Given the description of an element on the screen output the (x, y) to click on. 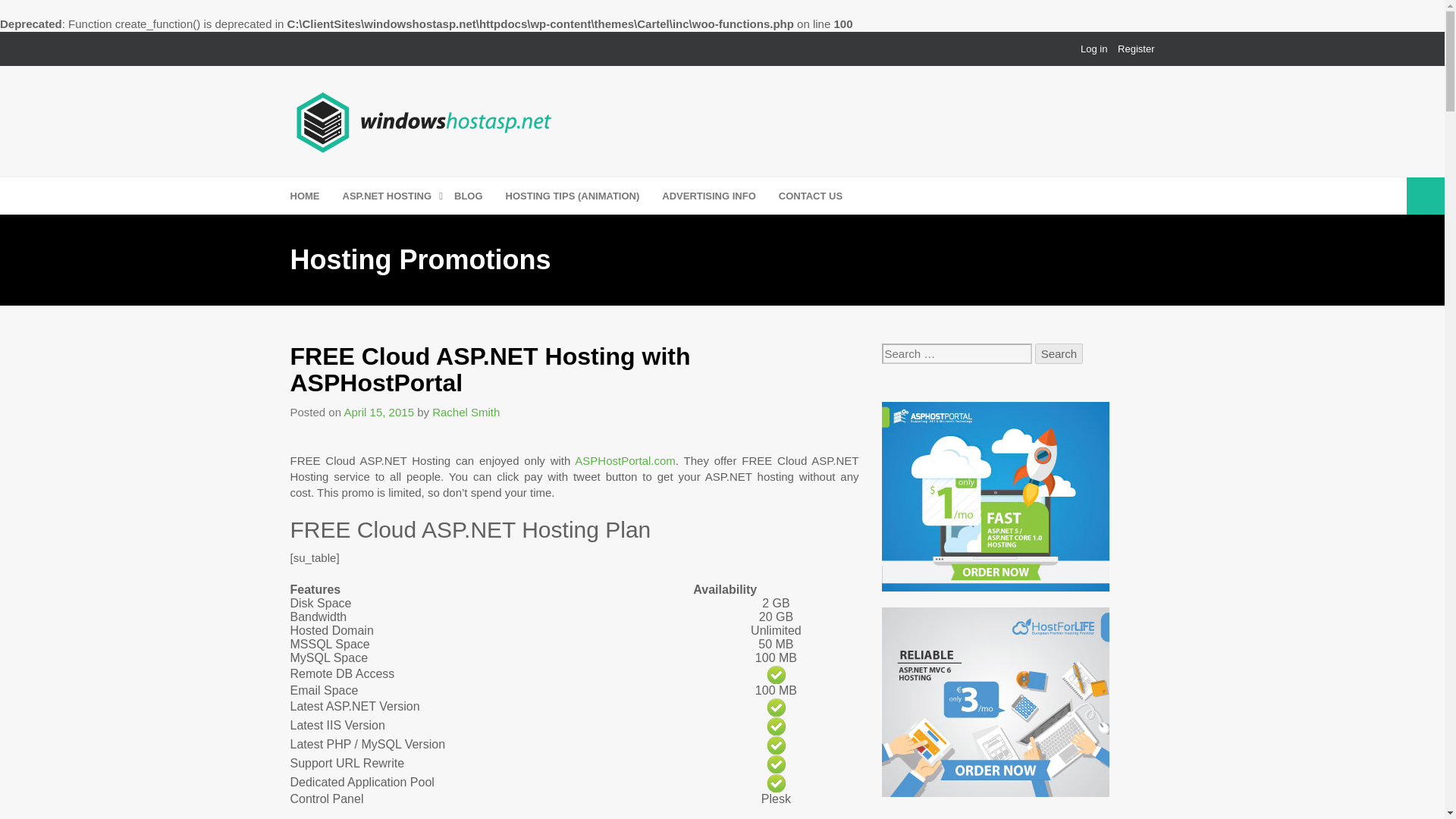
CONTACT US (810, 195)
FREE Cloud ASP.NET Hosting (776, 674)
FREE Cloud ASP.NET Hosting (776, 725)
FREE Cloud ASP.NET Hosting (776, 744)
Best Windows Hosting Reviews (424, 118)
ADVERTISING INFO (708, 195)
Rachel Smith (465, 411)
FREE Cloud ASP.NET Hosting (776, 782)
April 15, 2015 (378, 411)
ASP.NET HOSTING (387, 195)
